Given the description of an element on the screen output the (x, y) to click on. 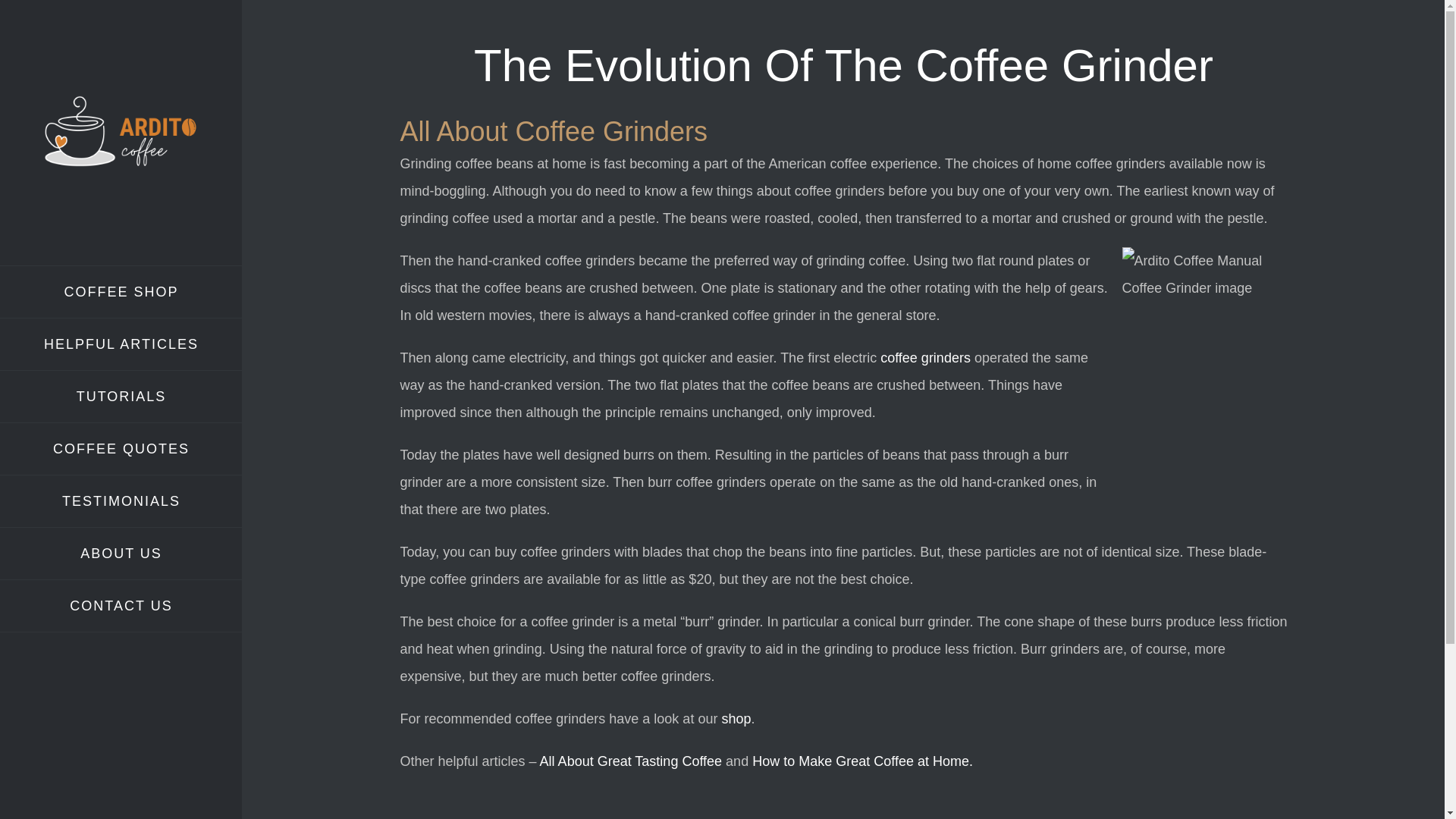
coffee grinders (925, 357)
All About Great Tasting Coffee (631, 761)
ABOUT US (121, 553)
shop (735, 718)
TESTIMONIALS (121, 501)
How to Make Great Coffee at Home. (862, 761)
TUTORIALS (121, 397)
COFFEE SHOP (121, 291)
COFFEE QUOTES (121, 449)
CONTACT US (121, 605)
HELPFUL ARTICLES (121, 344)
